Given the description of an element on the screen output the (x, y) to click on. 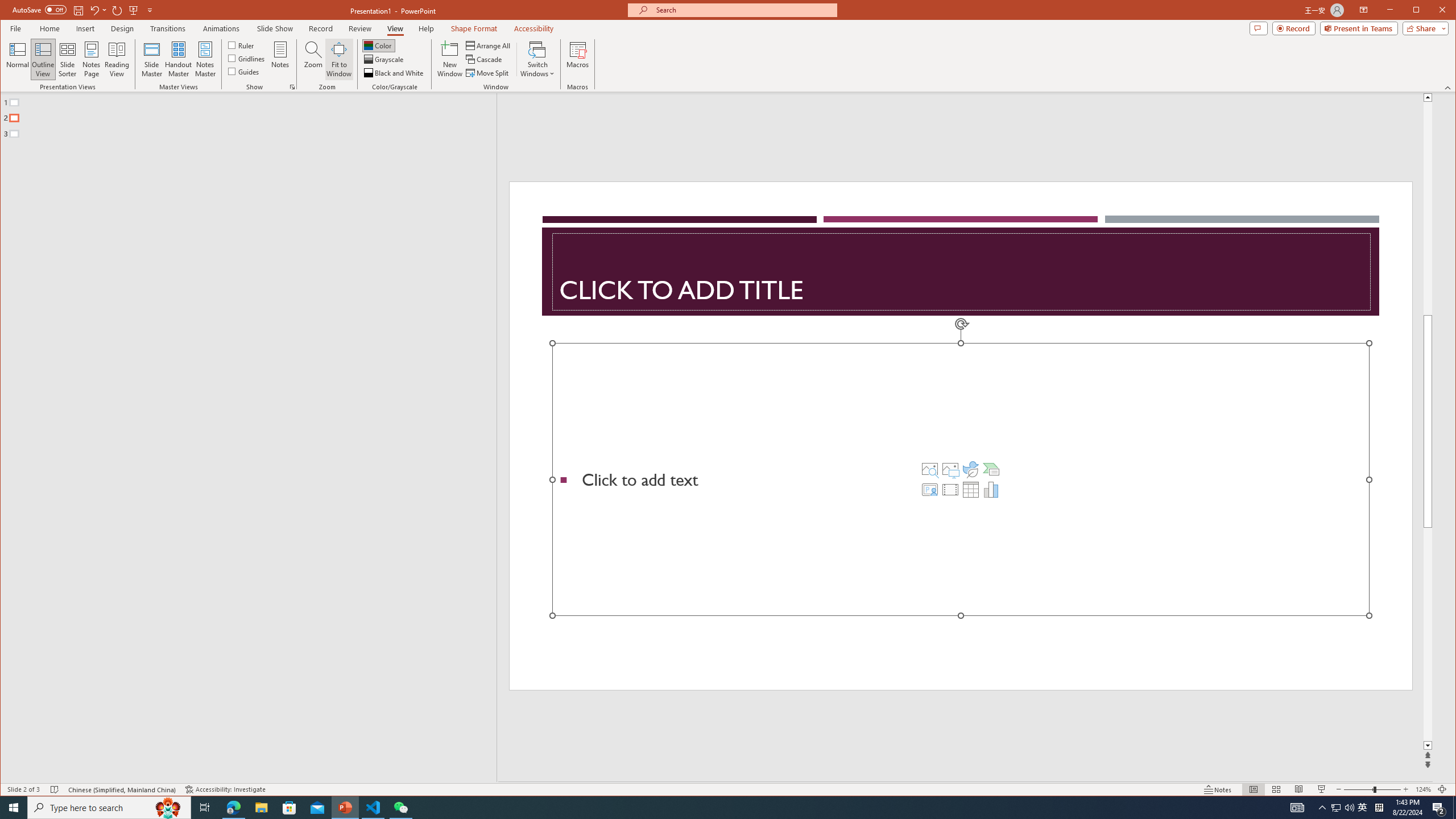
Insert Video (949, 489)
Insert a SmartArt Graphic (991, 469)
Guides (243, 70)
